Given the description of an element on the screen output the (x, y) to click on. 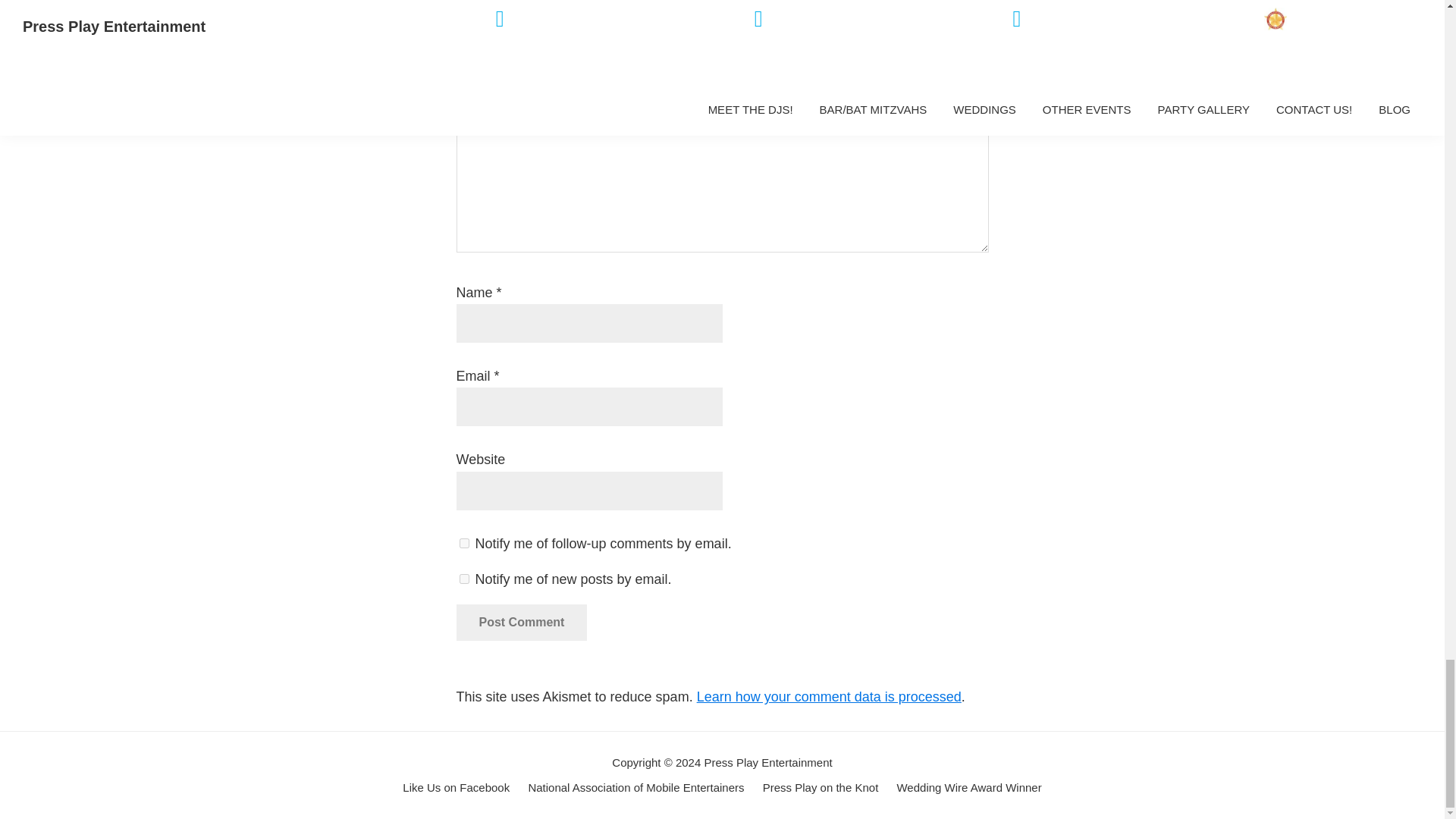
Like Us on Facebook (456, 787)
Post Comment (522, 622)
Learn how your comment data is processed (828, 696)
Post Comment (522, 622)
subscribe (464, 578)
Wedding Wire Award Winner (968, 787)
National Association of Mobile Entertainers (635, 787)
subscribe (464, 542)
Press Play on the Knot (820, 787)
